Given the description of an element on the screen output the (x, y) to click on. 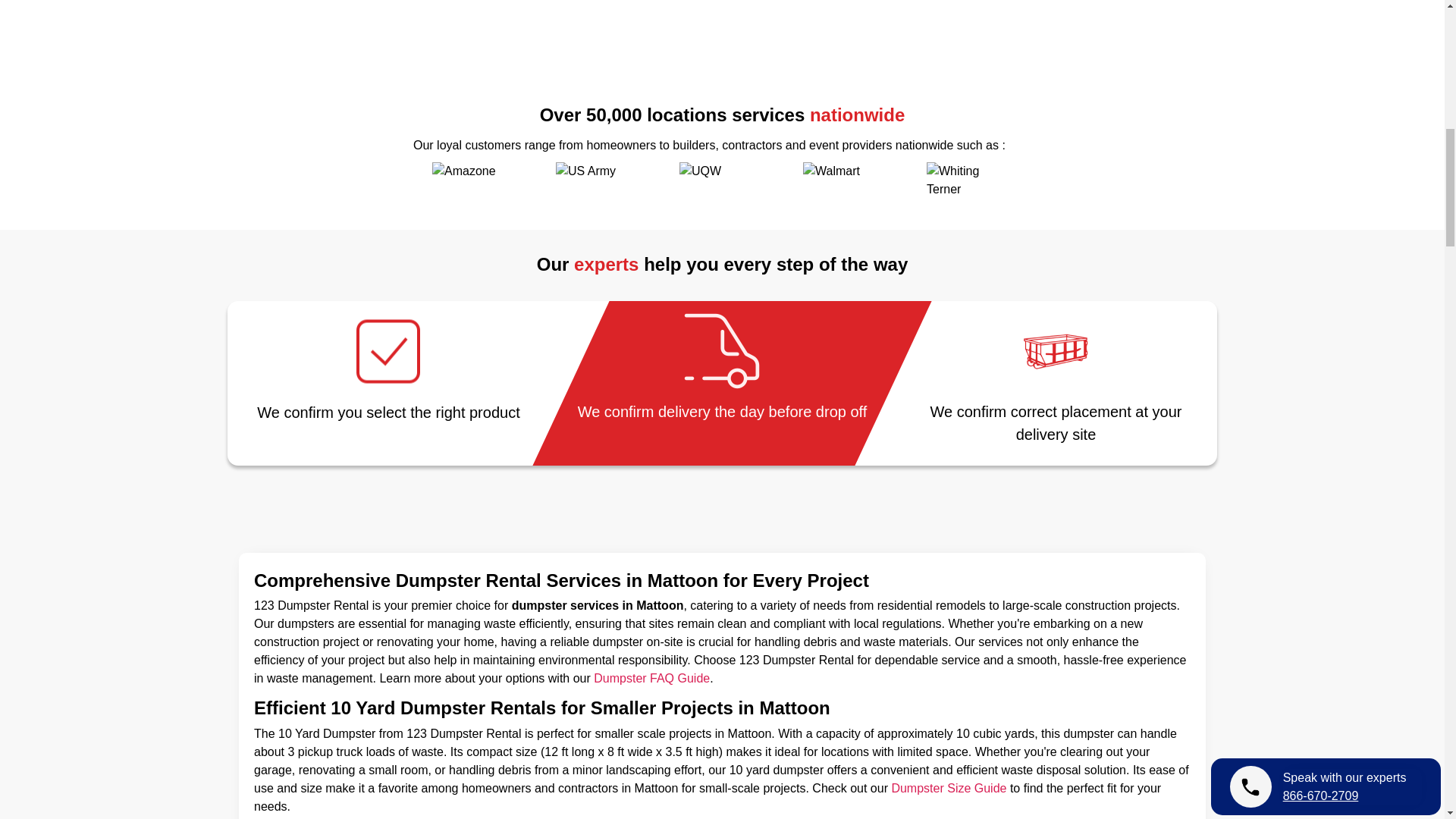
Dumpster Size Guide (948, 788)
Dumpster FAQ Guide (652, 677)
Customer reviews powered by Trustpilot (722, 65)
